Given the description of an element on the screen output the (x, y) to click on. 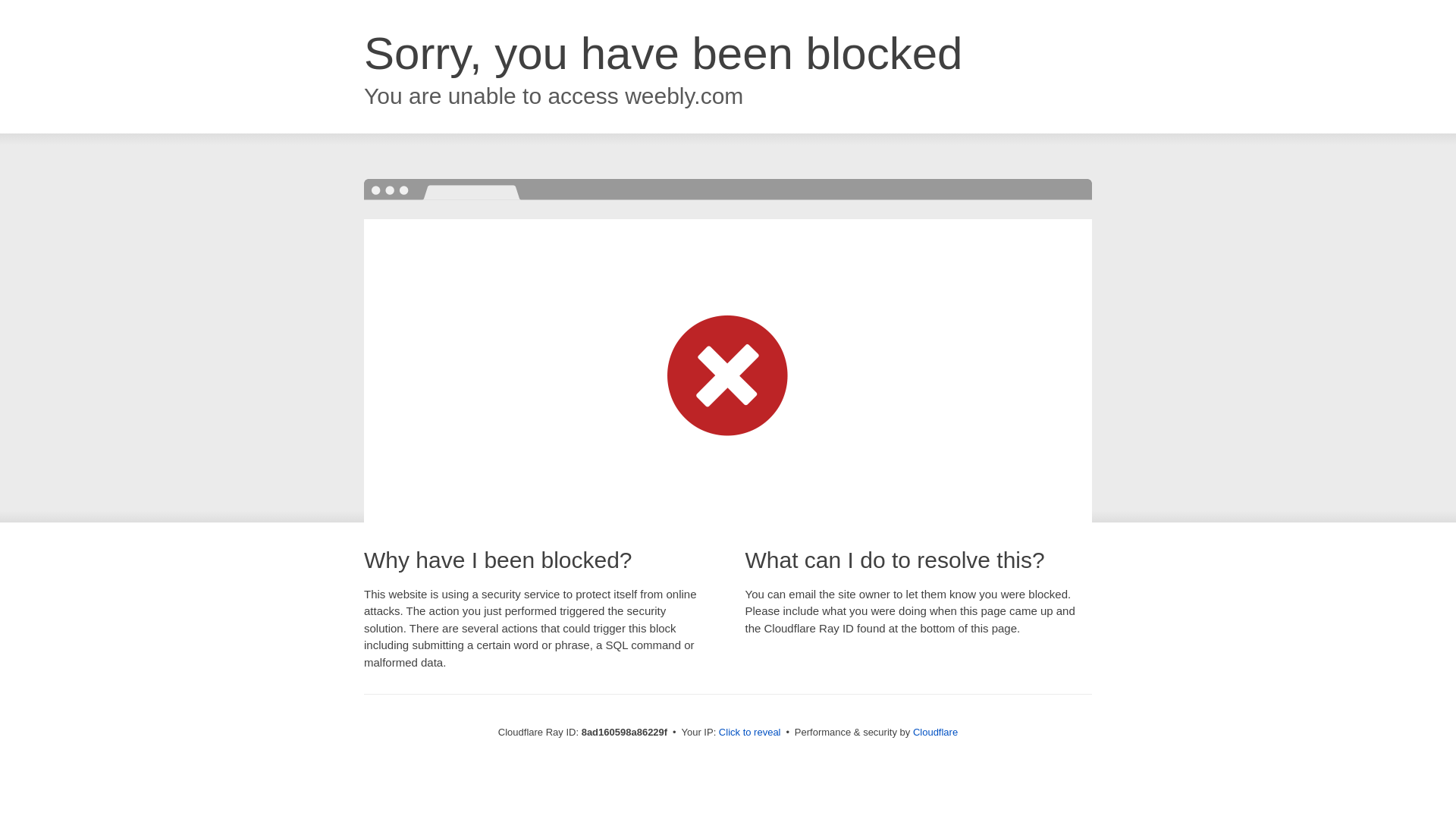
Cloudflare (935, 731)
Click to reveal (749, 732)
